Given the description of an element on the screen output the (x, y) to click on. 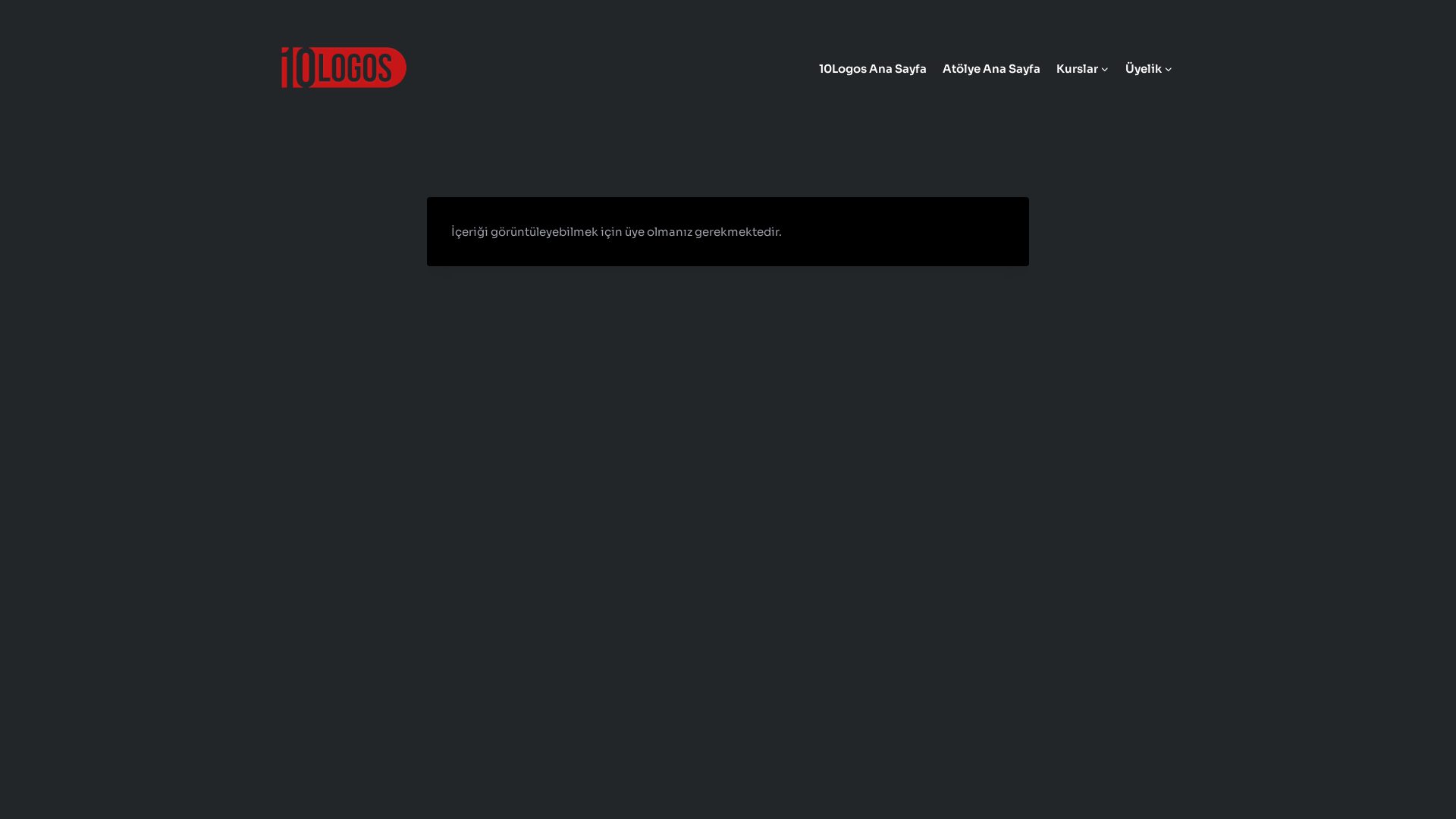
Kurslar Element type: text (1082, 68)
10Logos Ana Sayfa Element type: text (872, 68)
